Given the description of an element on the screen output the (x, y) to click on. 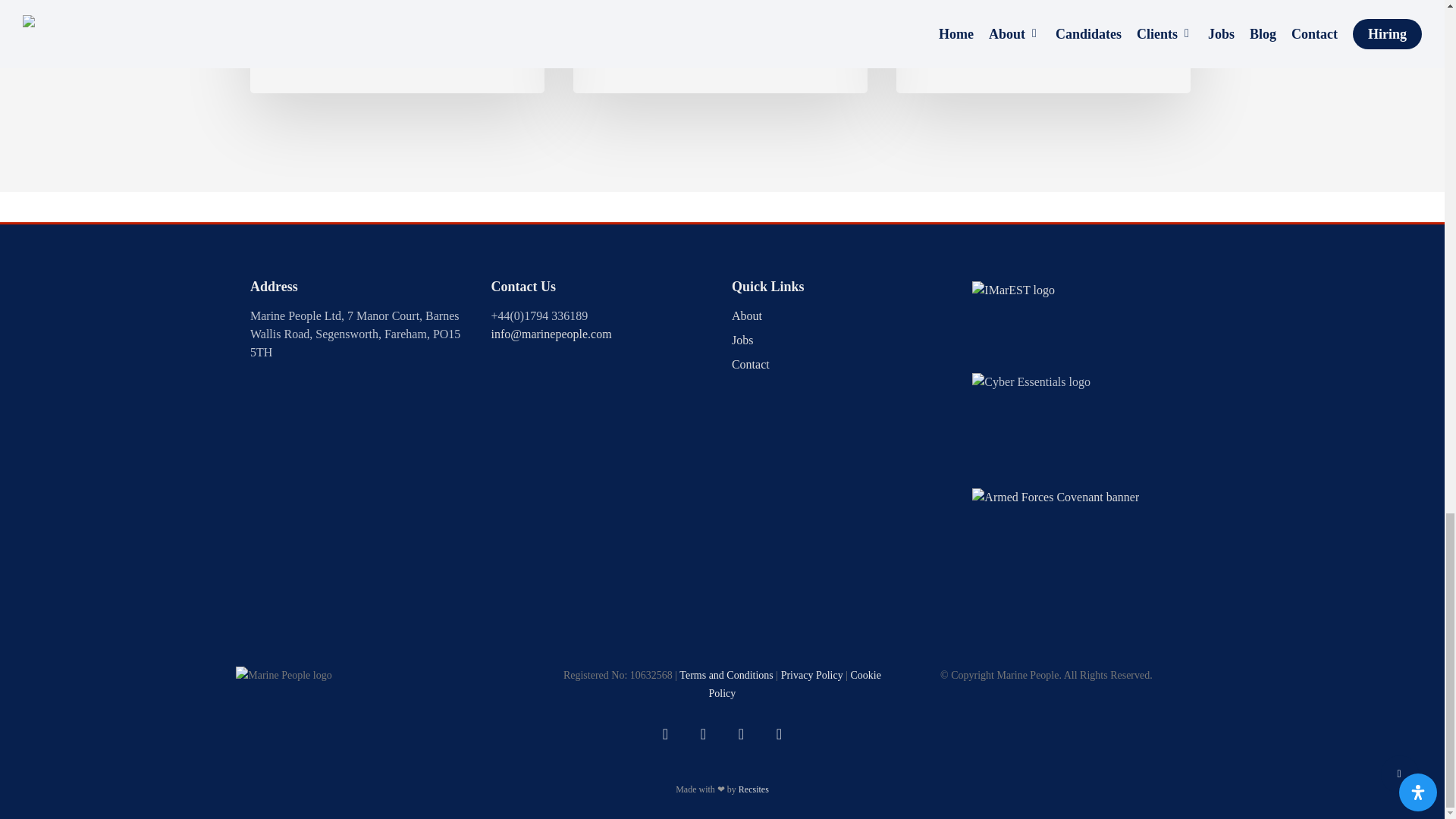
Marine People logo (283, 676)
About (842, 316)
Utilising 3D CAD in Shipbuilding Design and Engineering (397, 47)
Cyber Essentials logo (1031, 424)
The Benefits of Cross-Training in Shipbuilding (1043, 47)
IMarEST logo (1013, 321)
Jobs (842, 340)
